Given the description of an element on the screen output the (x, y) to click on. 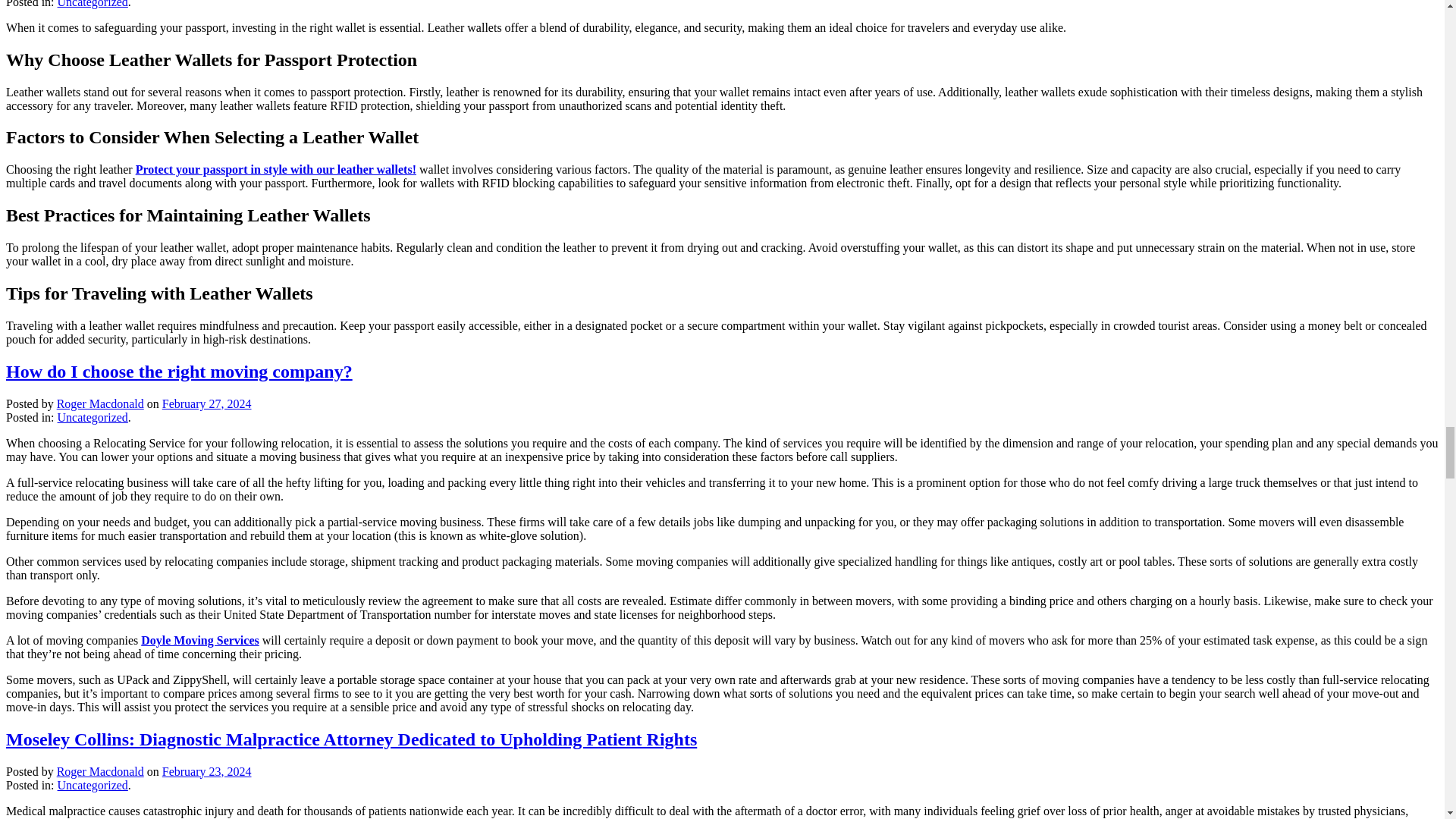
View all posts by Roger Macdonald (100, 403)
View all posts by Roger Macdonald (100, 771)
